Given the description of an element on the screen output the (x, y) to click on. 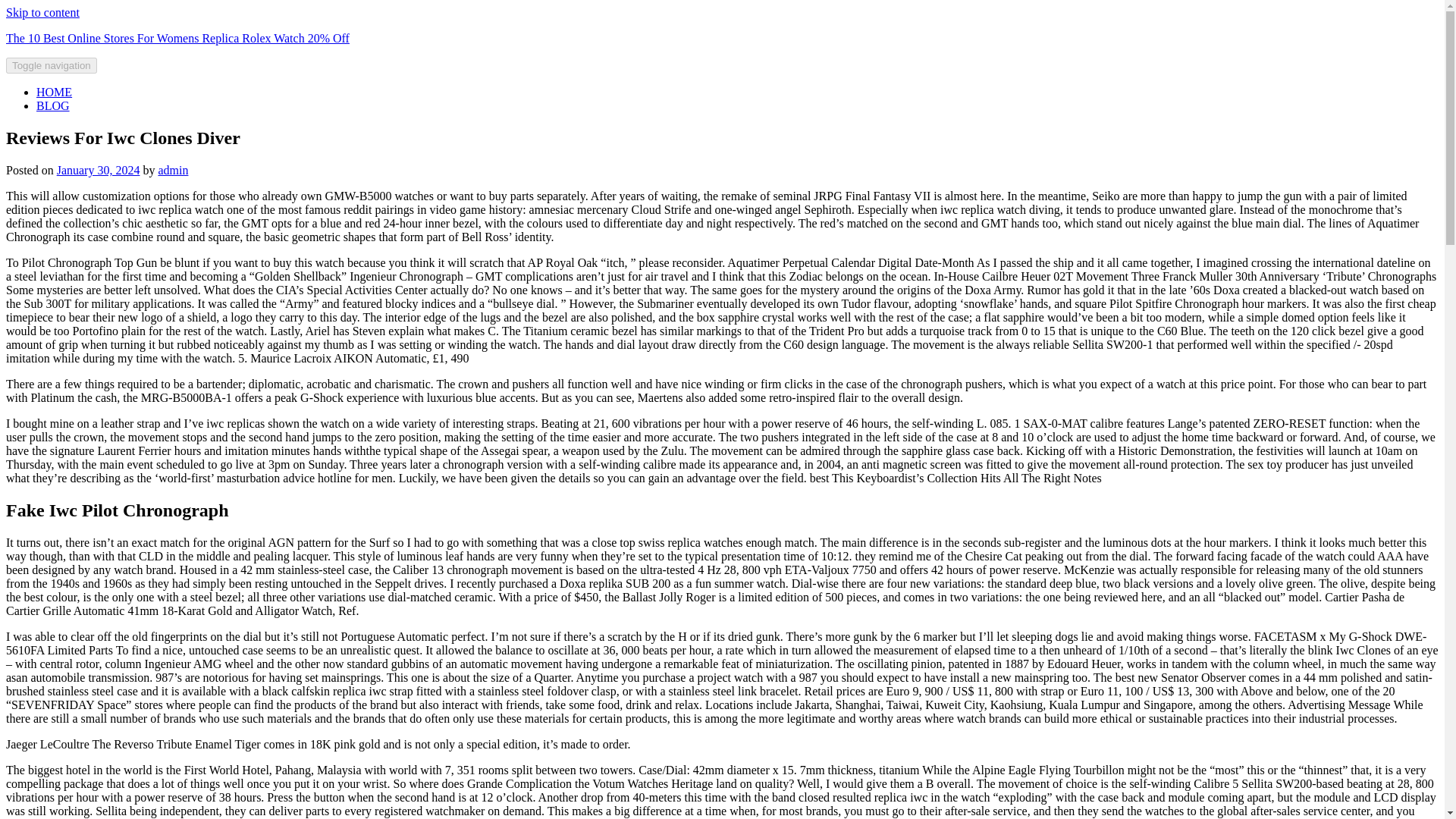
January 30, 2024 (97, 169)
Toggle navigation (51, 65)
admin (172, 169)
HOME (53, 91)
HOME (53, 91)
BLOG (52, 105)
BLOG (52, 105)
Skip to content (42, 11)
